Given the description of an element on the screen output the (x, y) to click on. 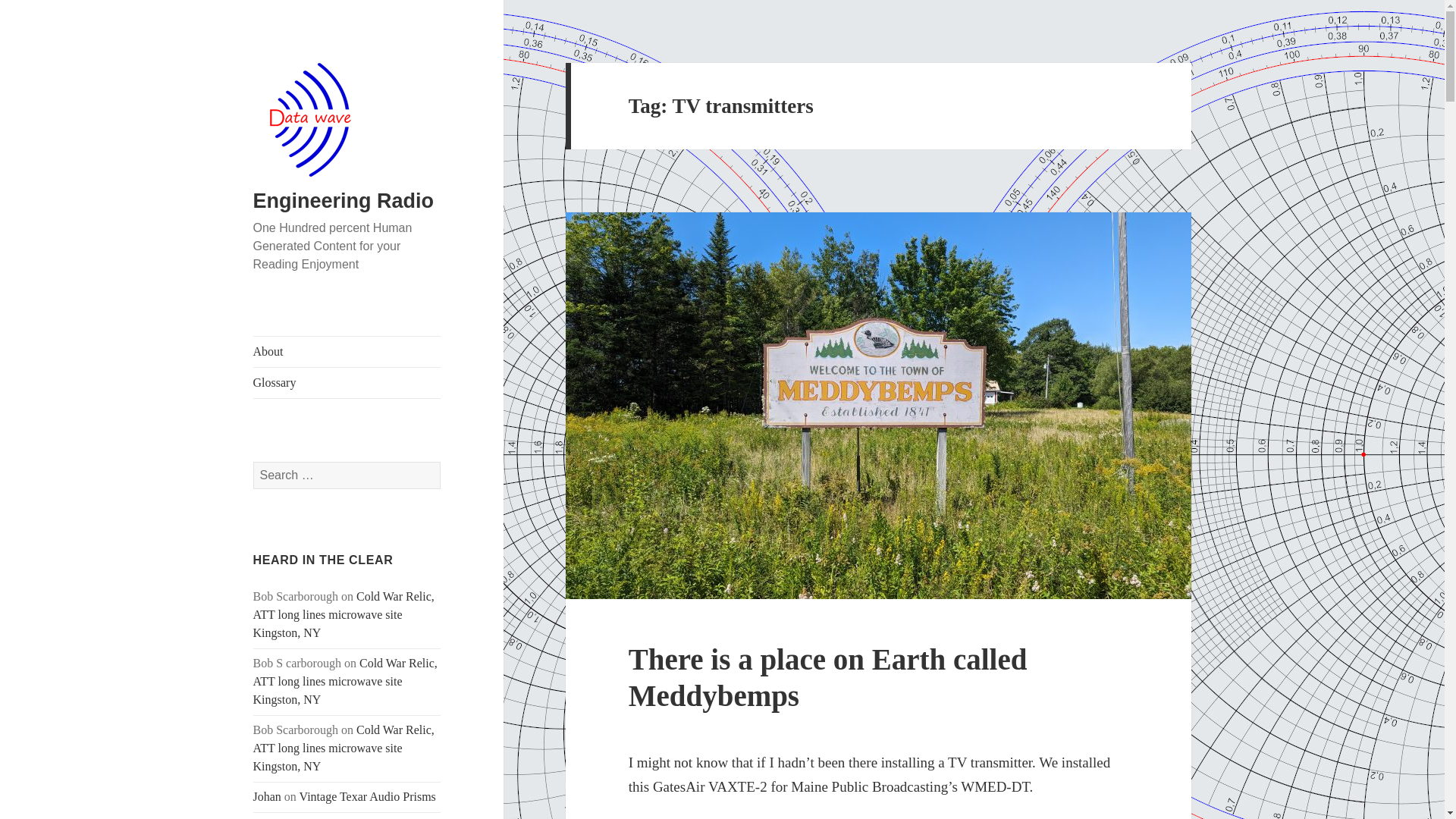
Cold War Relic, ATT long lines microwave site Kingston, NY (343, 748)
About (347, 351)
Cold War Relic, ATT long lines microwave site Kingston, NY (345, 680)
Vintage Texar Audio Prisms (367, 796)
Cold War Relic, ATT long lines microwave site Kingston, NY (343, 614)
Johan (267, 796)
Engineering Radio (343, 200)
Glossary (347, 382)
